Given the description of an element on the screen output the (x, y) to click on. 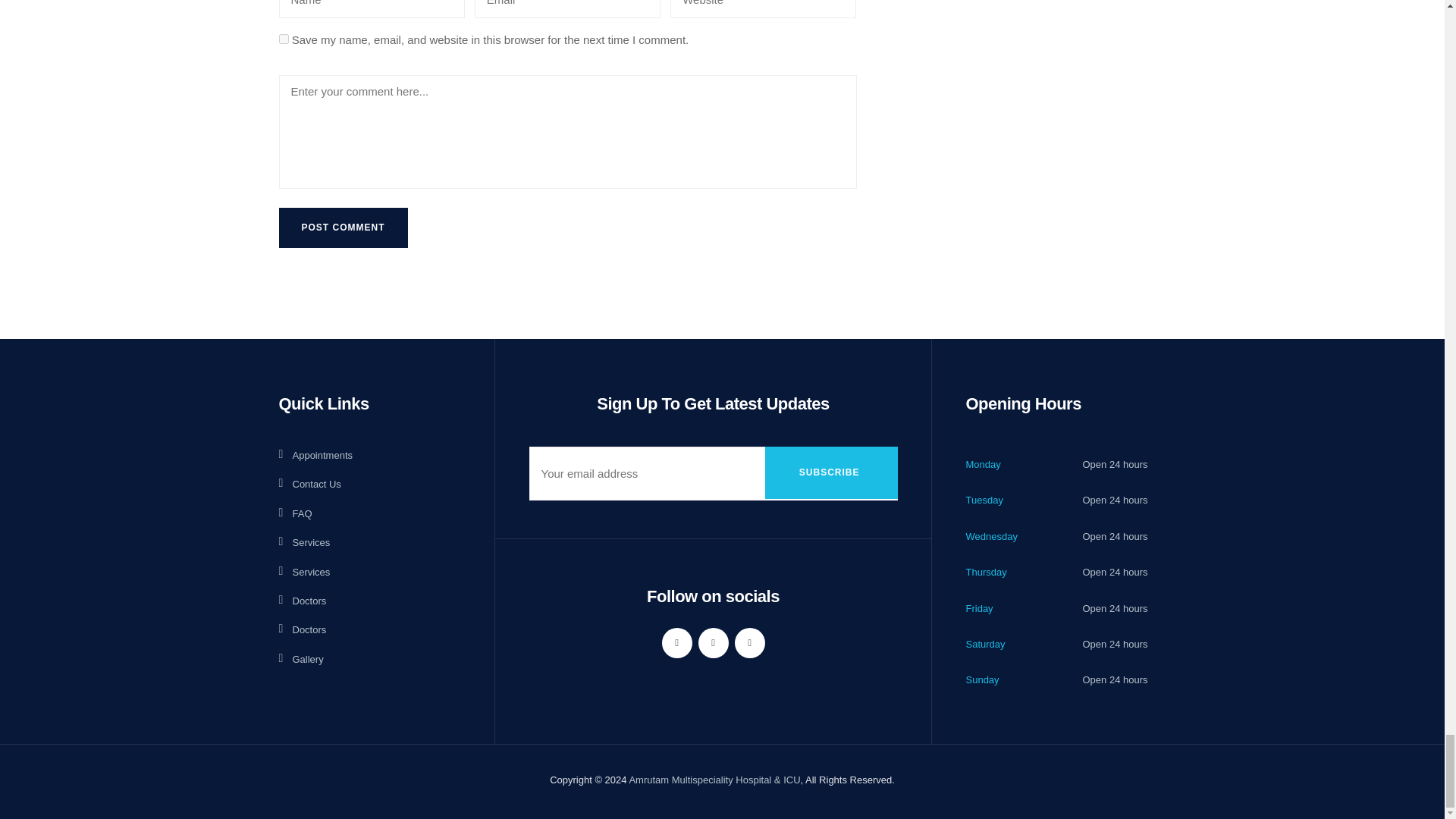
Post Comment (343, 228)
yes (283, 39)
Contact Us (309, 484)
Post Comment (343, 228)
Appointments (316, 455)
